Given the description of an element on the screen output the (x, y) to click on. 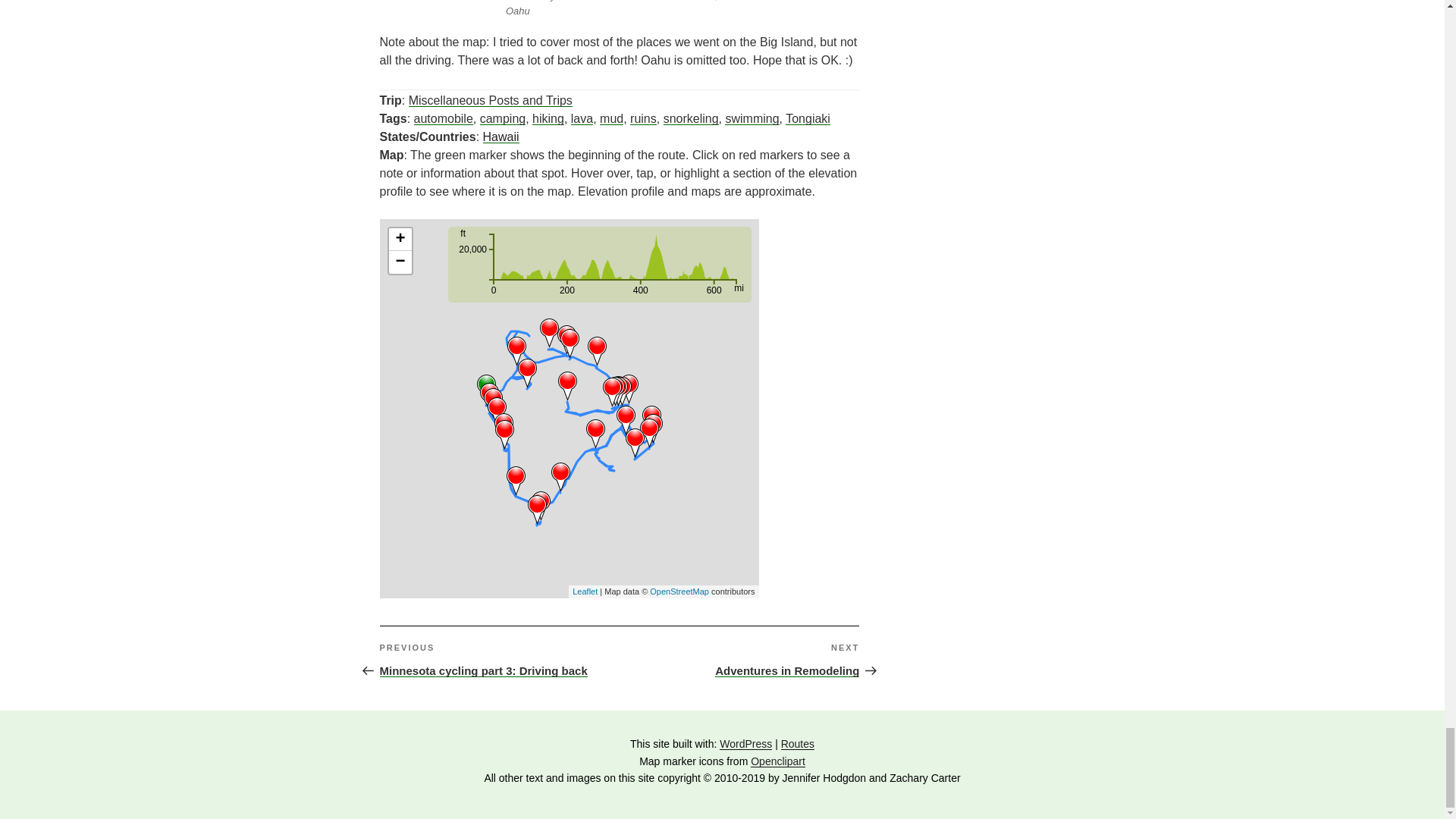
Zoom out (399, 261)
A JS library for interactive maps (584, 591)
Zoom in (399, 239)
WordPress (745, 743)
Miscellaneous Posts and Trips (490, 100)
Routes plugin for WordPress (598, 264)
